Given the description of an element on the screen output the (x, y) to click on. 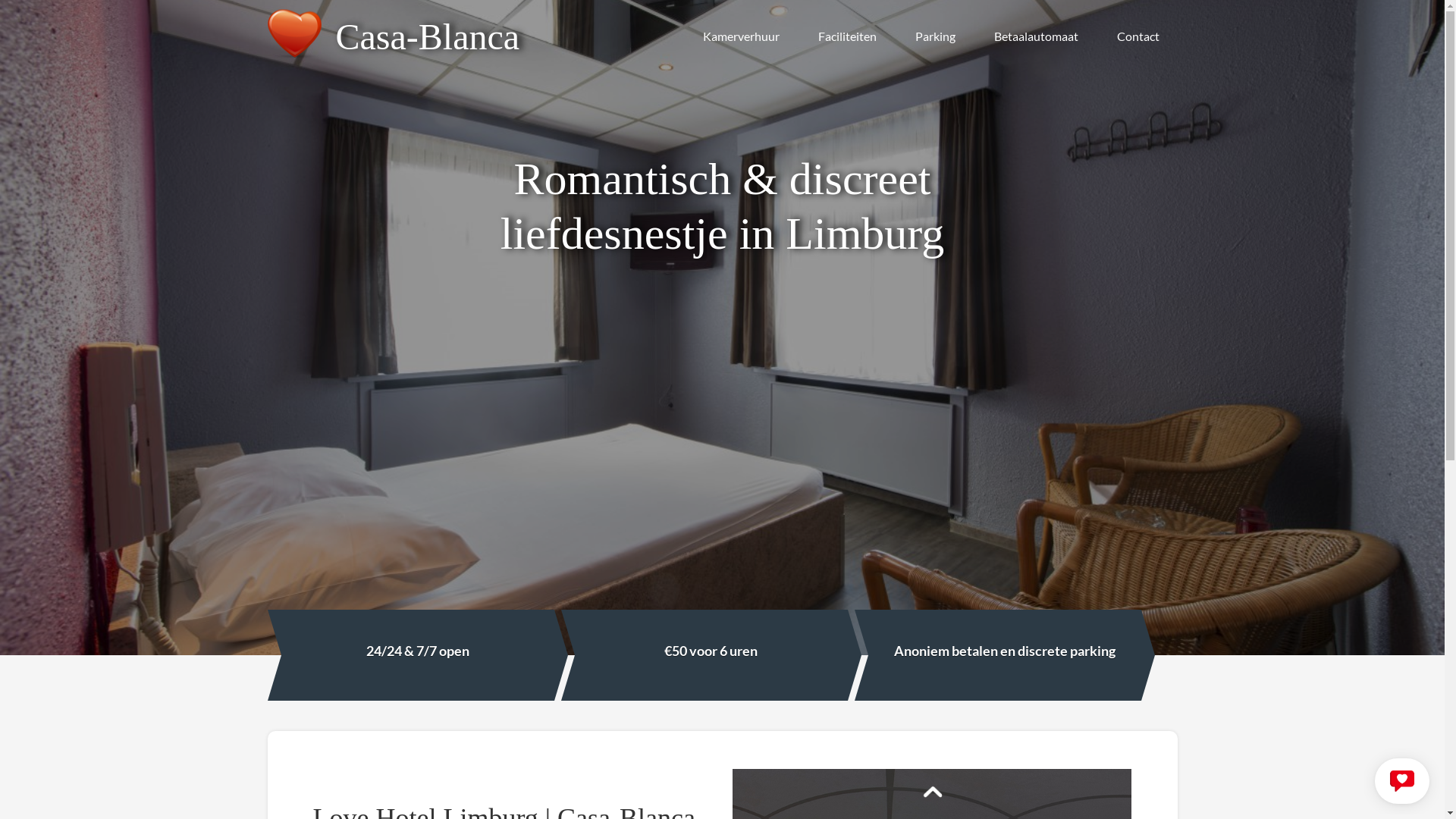
Anoniem betalen en discrete parking Element type: text (1003, 654)
Contact Element type: text (1137, 36)
Parking Element type: text (934, 36)
Casa-Blanca Element type: text (402, 33)
Betaalautomaat Element type: text (1035, 36)
24/24 & 7/7 open Element type: text (416, 654)
Faciliteiten Element type: text (846, 36)
Kamerverhuur Element type: text (740, 36)
